Given the description of an element on the screen output the (x, y) to click on. 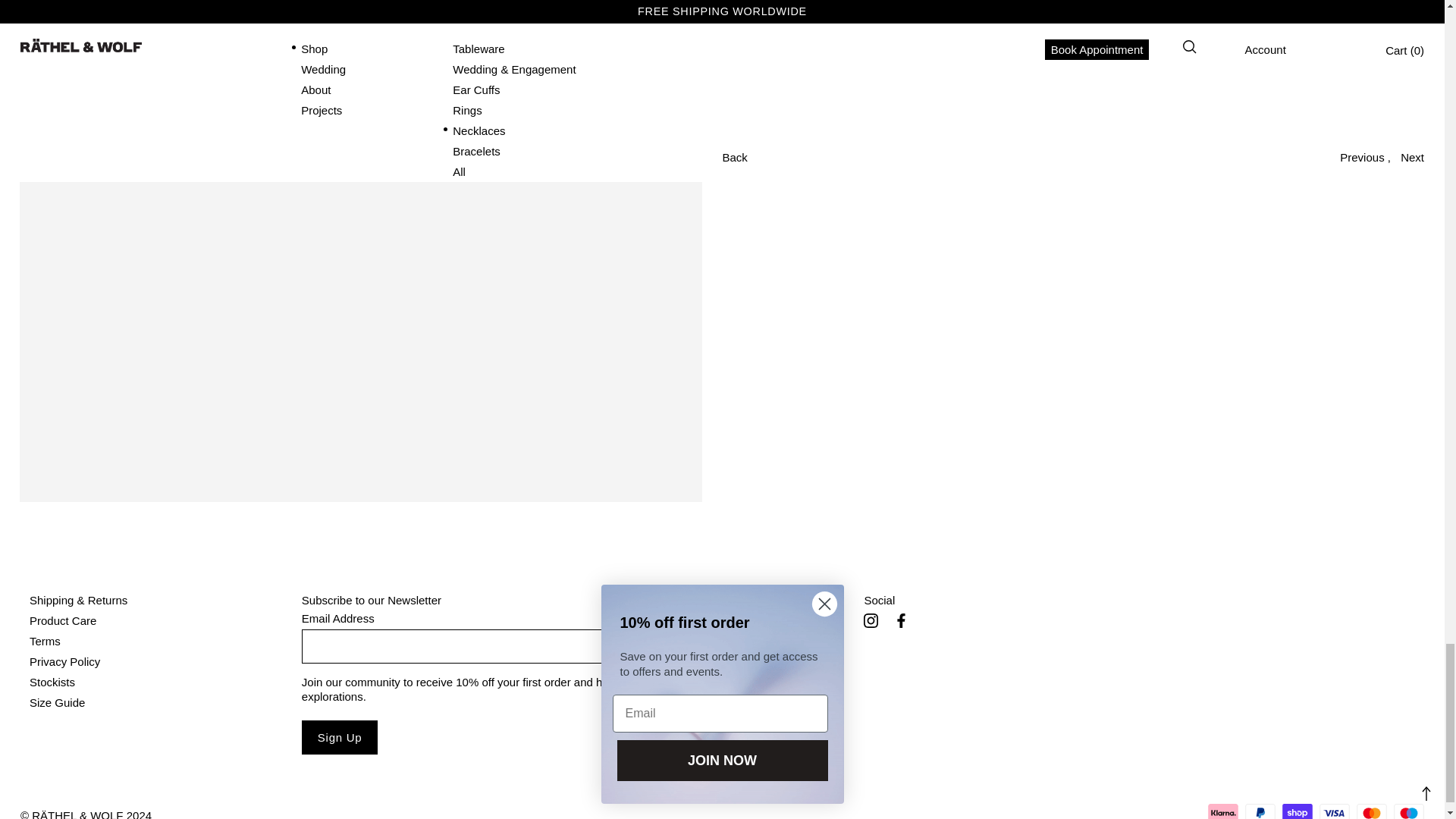
Facebook (900, 620)
Instagram (870, 620)
Instagram (870, 620)
